Given the description of an element on the screen output the (x, y) to click on. 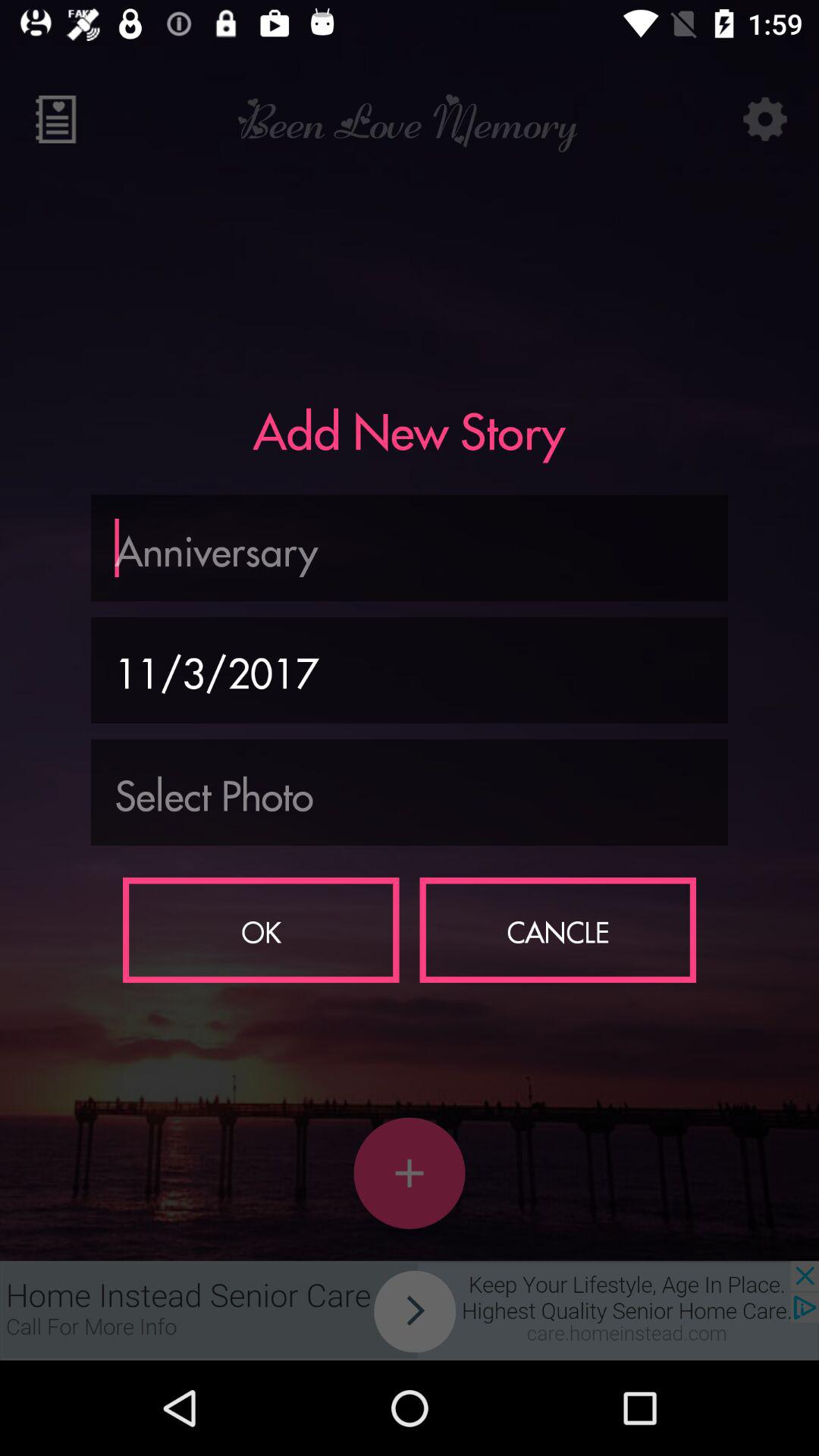
turn off icon below add new story icon (409, 547)
